Given the description of an element on the screen output the (x, y) to click on. 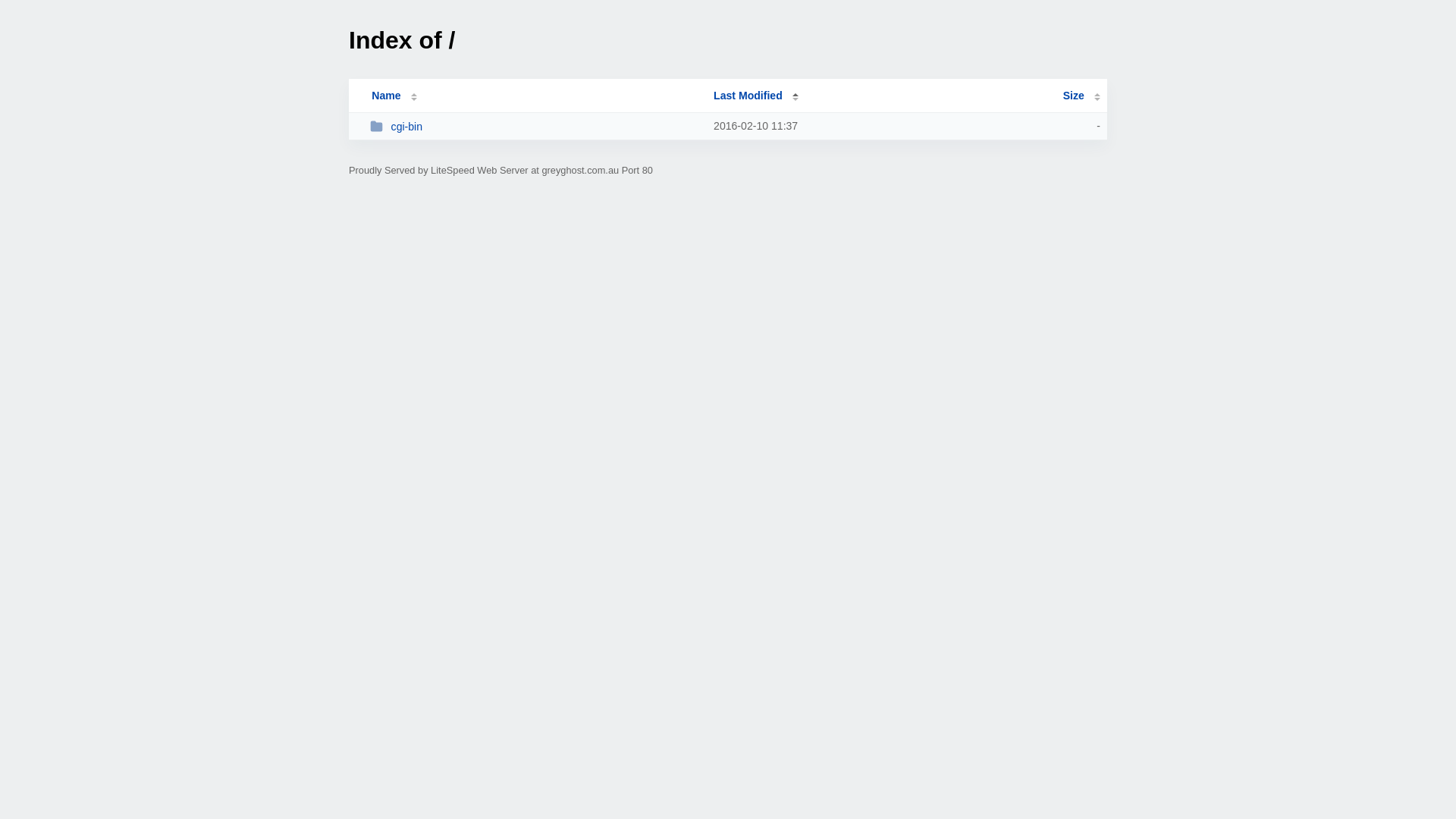
Name Element type: text (385, 95)
cgi-bin Element type: text (534, 125)
Last Modified Element type: text (755, 95)
Size Element type: text (1081, 95)
